Given the description of an element on the screen output the (x, y) to click on. 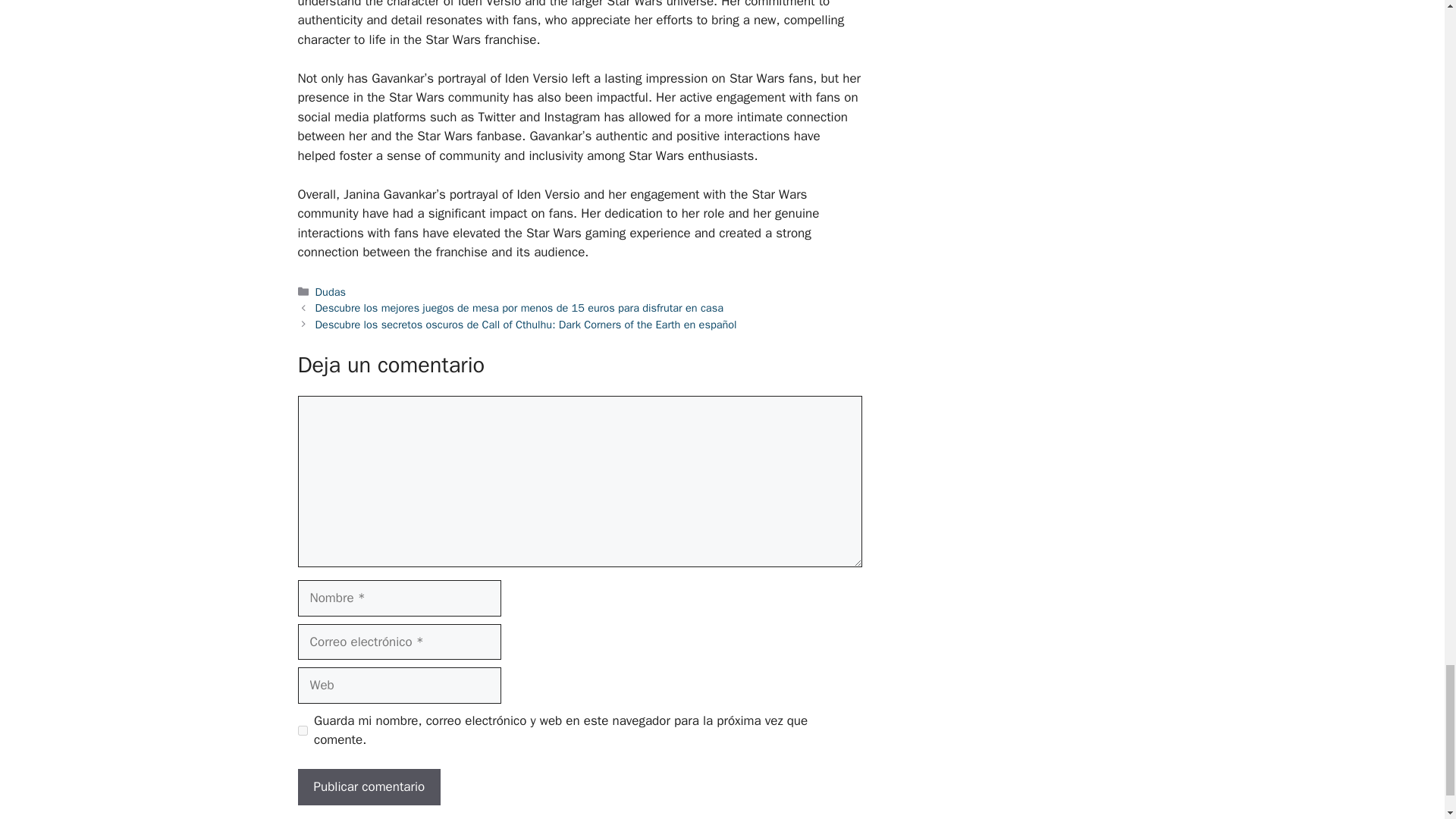
Dudas (330, 291)
yes (302, 730)
Publicar comentario (369, 787)
Publicar comentario (369, 787)
